Given the description of an element on the screen output the (x, y) to click on. 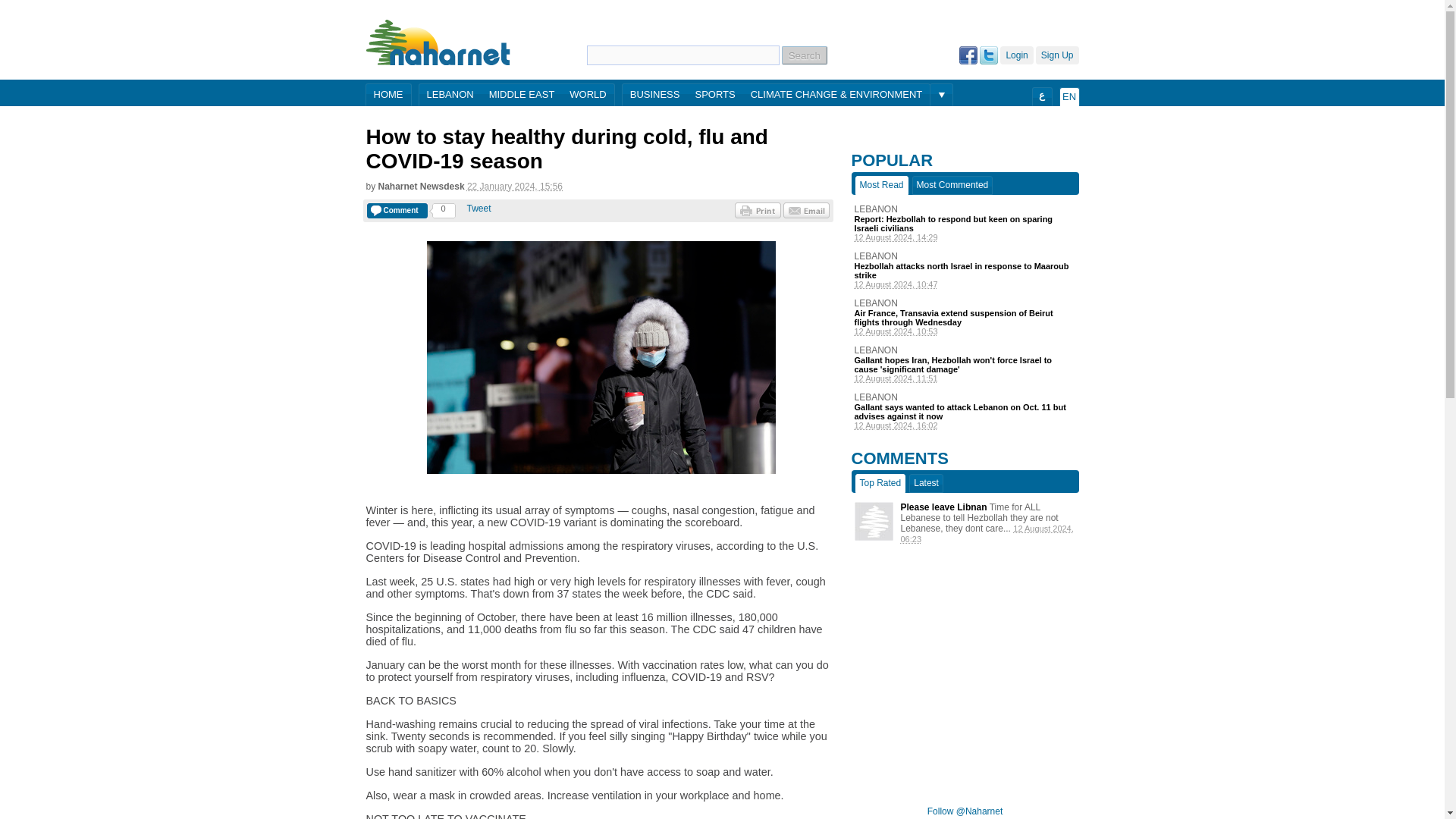
LEBANON (964, 208)
2024-08-12T13:02:21Z (964, 424)
Tweet (479, 208)
BUSINESS (655, 95)
LEBANON (964, 397)
2024-08-12T03:23:28Z (987, 533)
Sign Up (1056, 54)
Hezbollah attacks north Israel in response to Maaroub strike (964, 270)
Naharnet (438, 41)
